Given the description of an element on the screen output the (x, y) to click on. 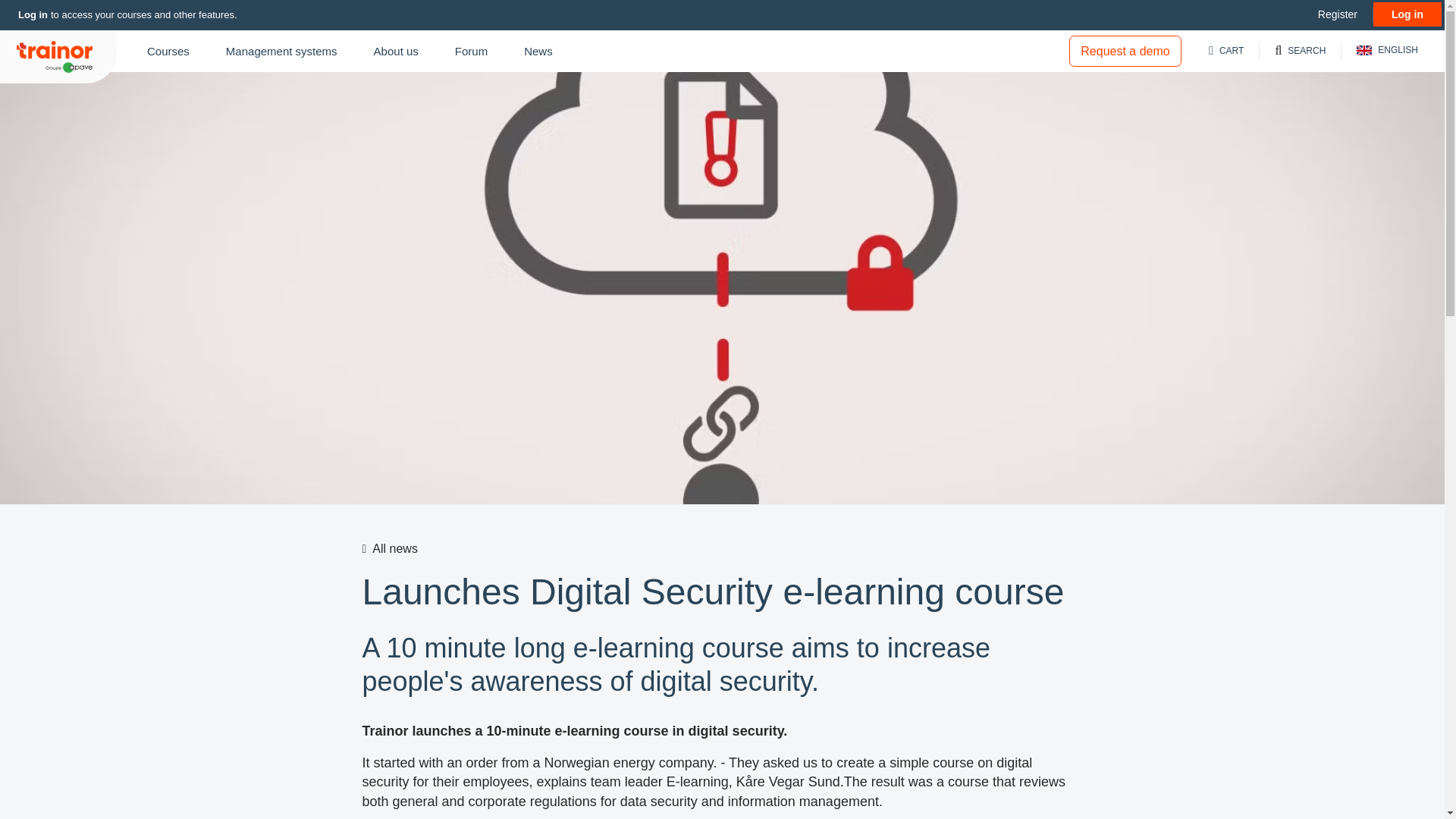
Request a demo (1124, 51)
About us (395, 50)
CART (1226, 50)
News (538, 50)
Courses (168, 50)
Log in (32, 14)
Management systems (281, 50)
Register (1338, 14)
Forum (470, 50)
Log in (1407, 14)
